Given the description of an element on the screen output the (x, y) to click on. 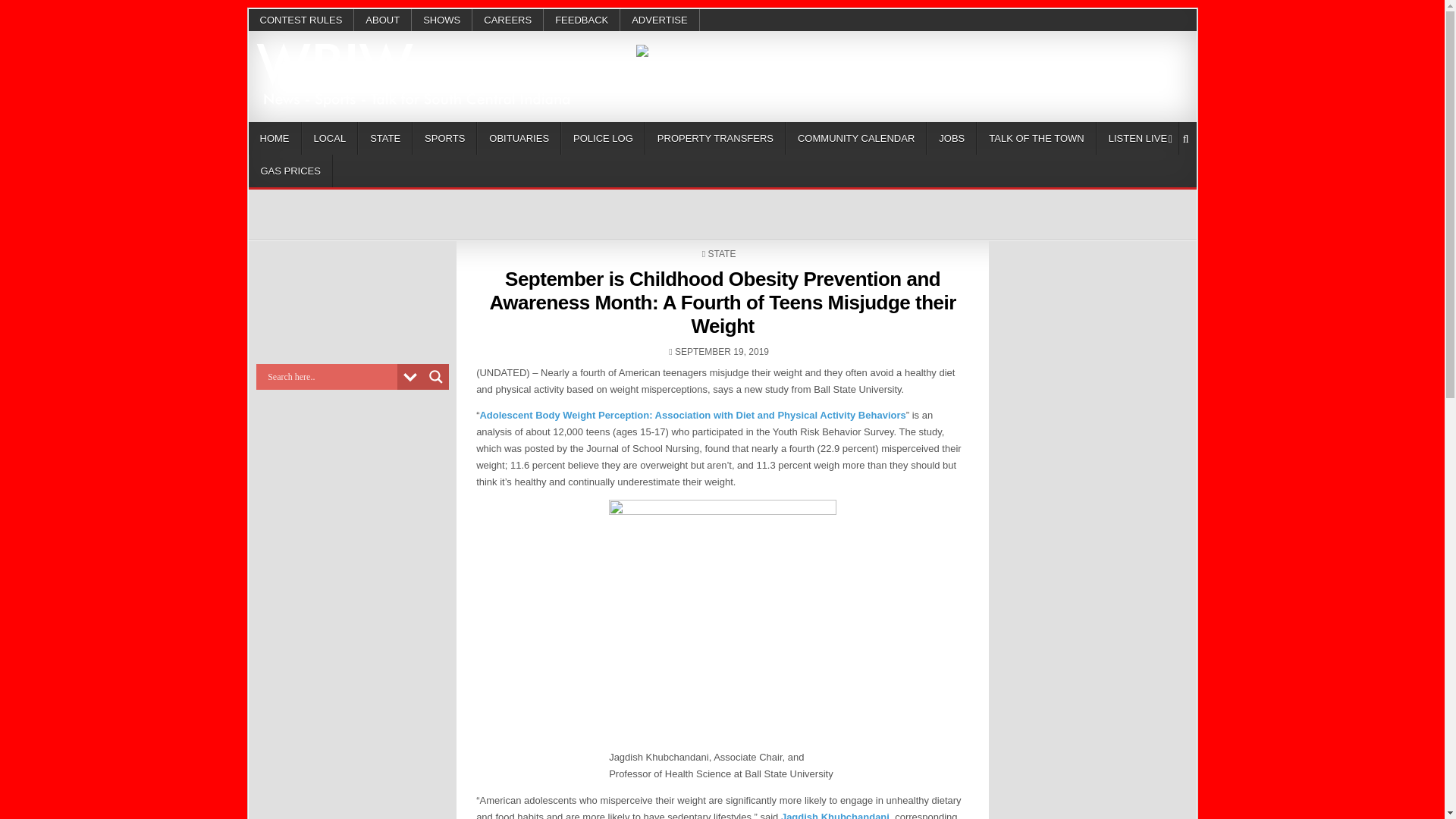
SPORTS (444, 138)
CONTEST RULES (301, 20)
ADVERTISE (659, 20)
FEEDBACK (581, 20)
ABOUT (382, 20)
LOCAL (329, 138)
SHOWS (441, 20)
HOME (274, 138)
CAREERS (507, 20)
STATE (385, 138)
